Given the description of an element on the screen output the (x, y) to click on. 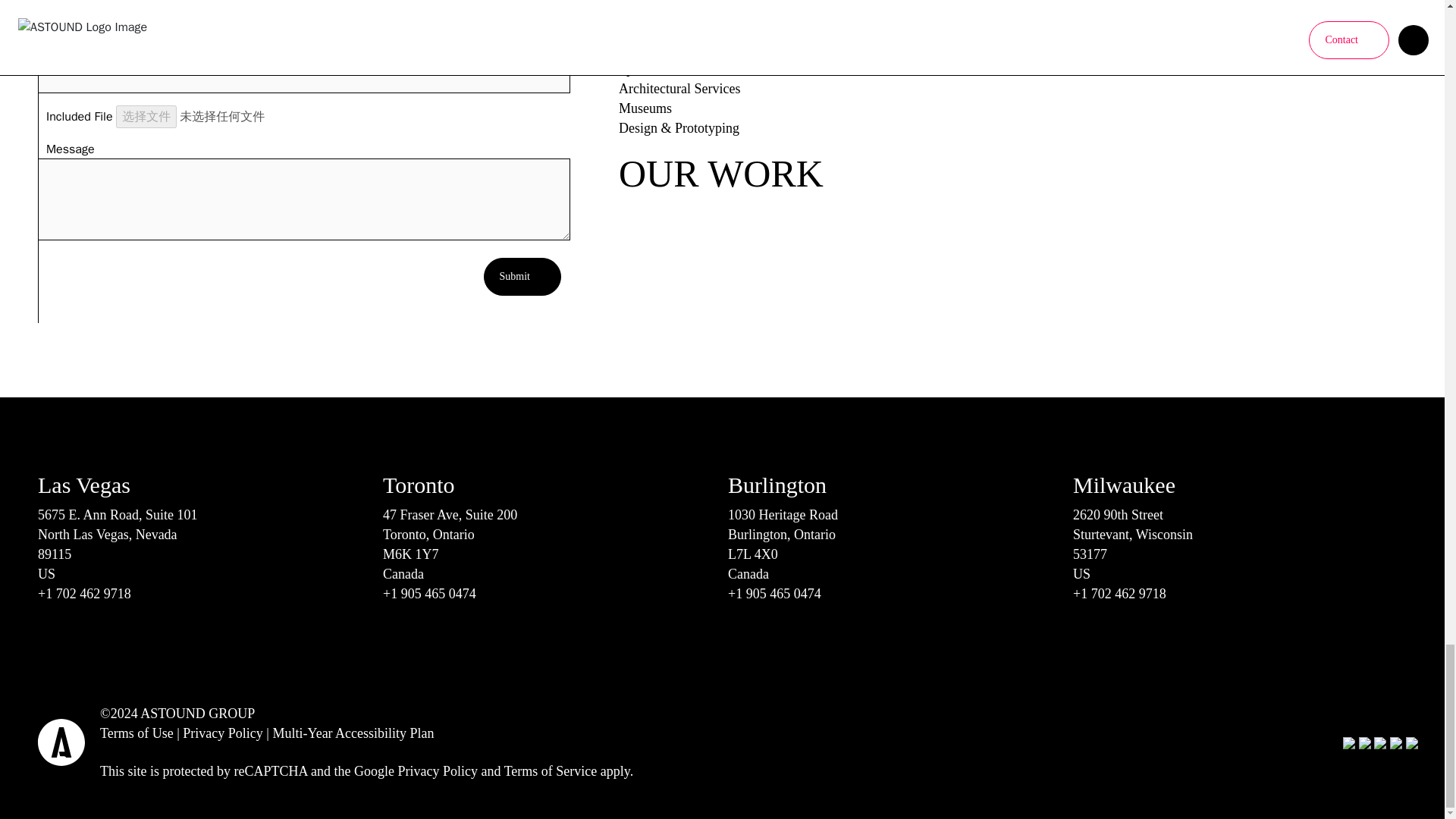
Mobile Tours (655, 48)
Architectural Services (678, 88)
Museums (644, 107)
Submit (521, 276)
